Given the description of an element on the screen output the (x, y) to click on. 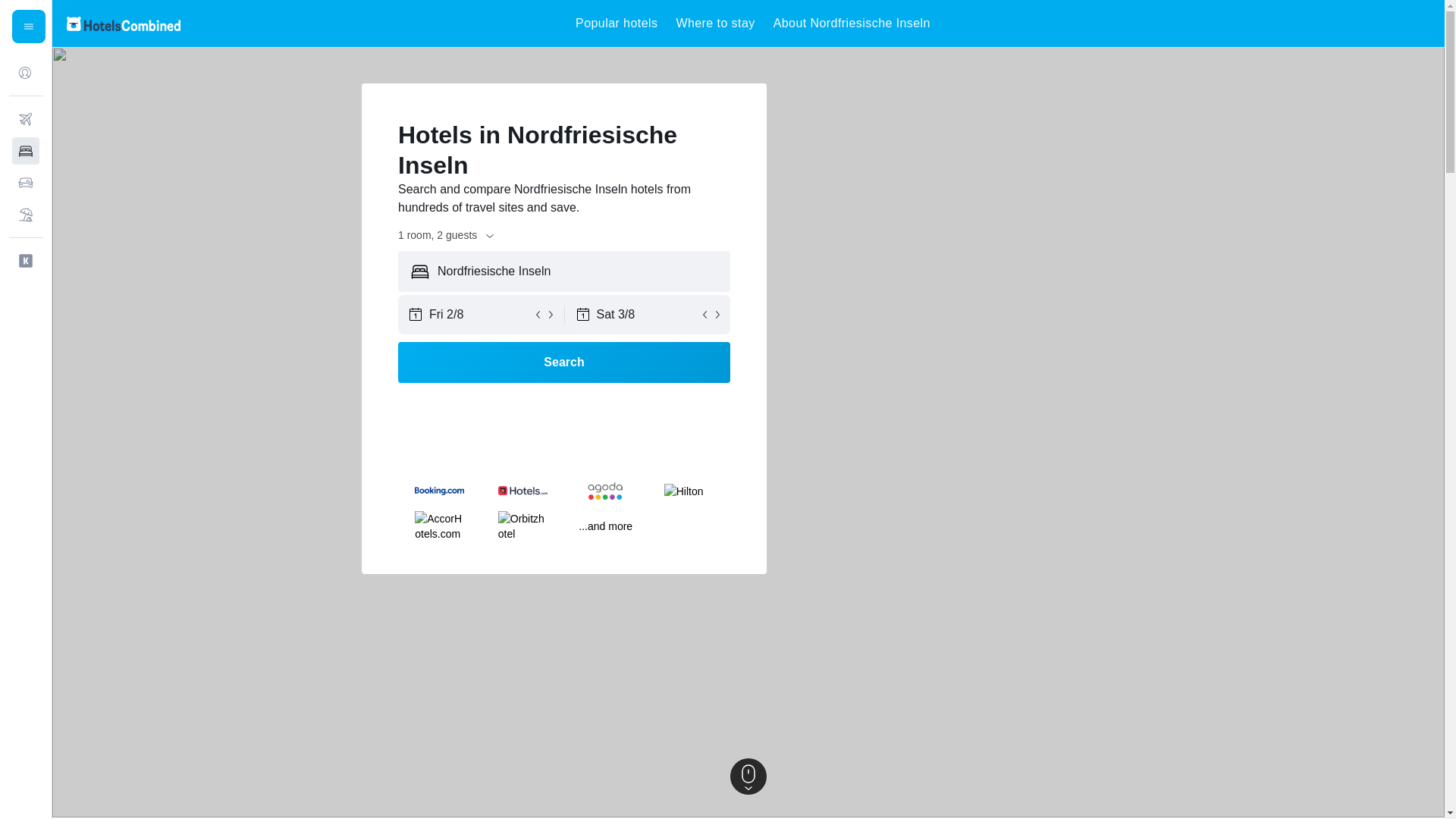
1 room, 2 guests (446, 235)
Search (563, 362)
Search (563, 362)
